Given the description of an element on the screen output the (x, y) to click on. 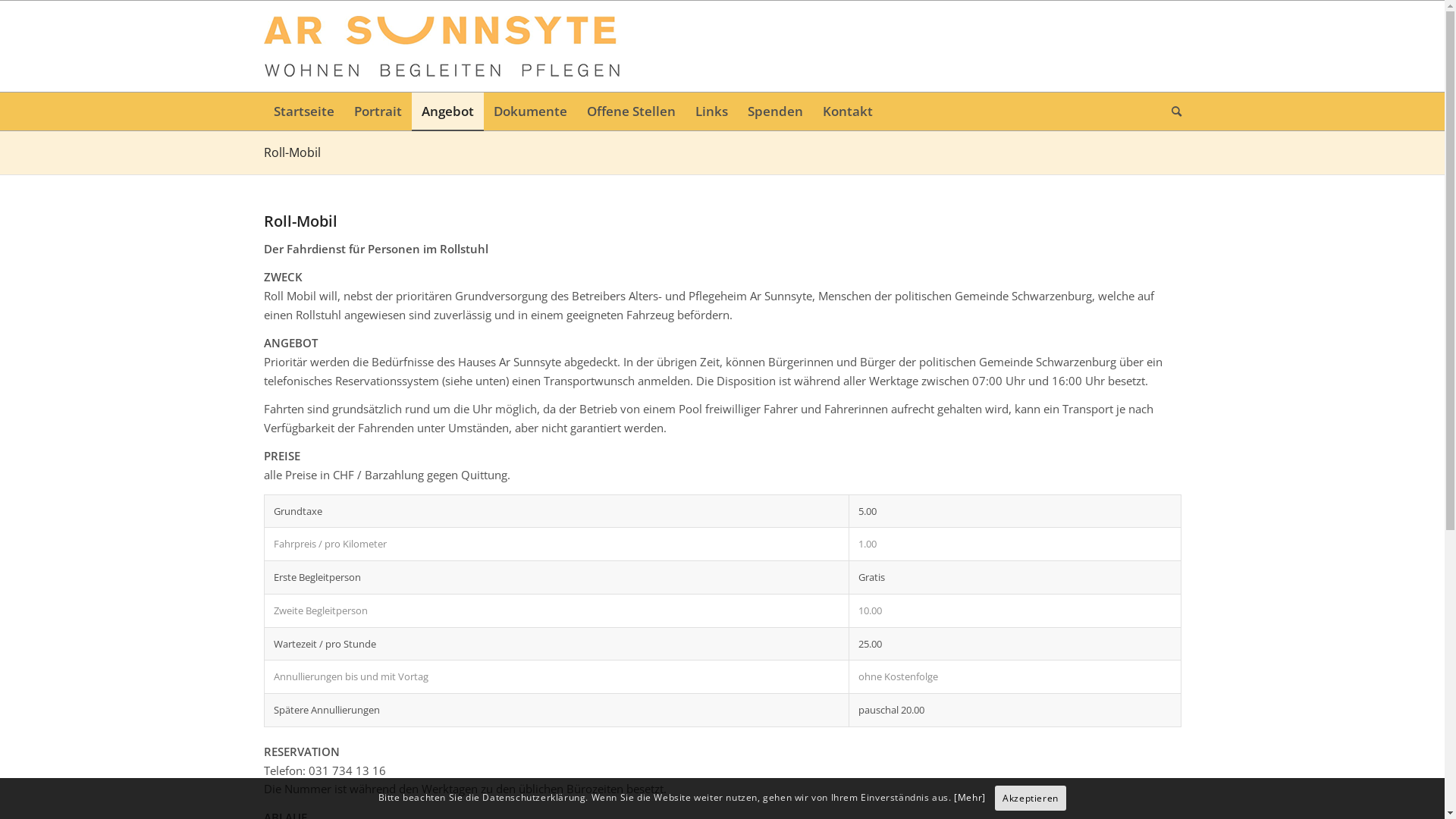
Offene Stellen Element type: text (630, 111)
[Mehr] Element type: text (969, 797)
Portrait Element type: text (377, 111)
Spenden Element type: text (774, 111)
Akzeptieren Element type: text (1030, 798)
Angebot Element type: text (447, 111)
Startseite Element type: text (303, 111)
Dokumente Element type: text (530, 111)
Links Element type: text (711, 111)
Kontakt Element type: text (847, 111)
Roll-Mobil Element type: text (291, 152)
